Given the description of an element on the screen output the (x, y) to click on. 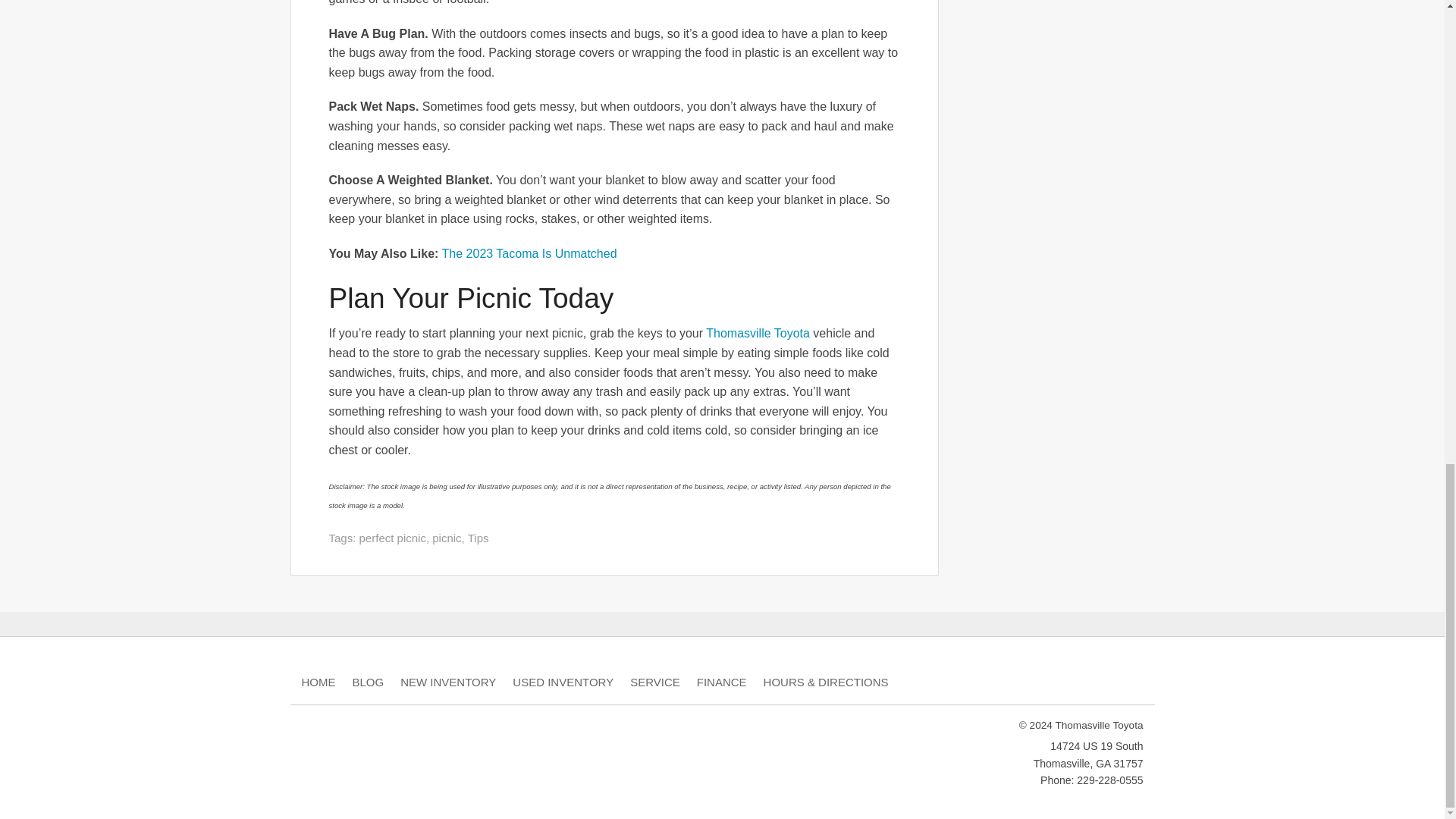
Tips (478, 537)
NEW INVENTORY (448, 682)
HOME (318, 682)
Thomasville Toyota (757, 332)
BLOG (368, 682)
perfect picnic (392, 537)
picnic (446, 537)
The 2023 Tacoma Is Unmatched (529, 253)
FINANCE (721, 682)
USED INVENTORY (562, 682)
